Given the description of an element on the screen output the (x, y) to click on. 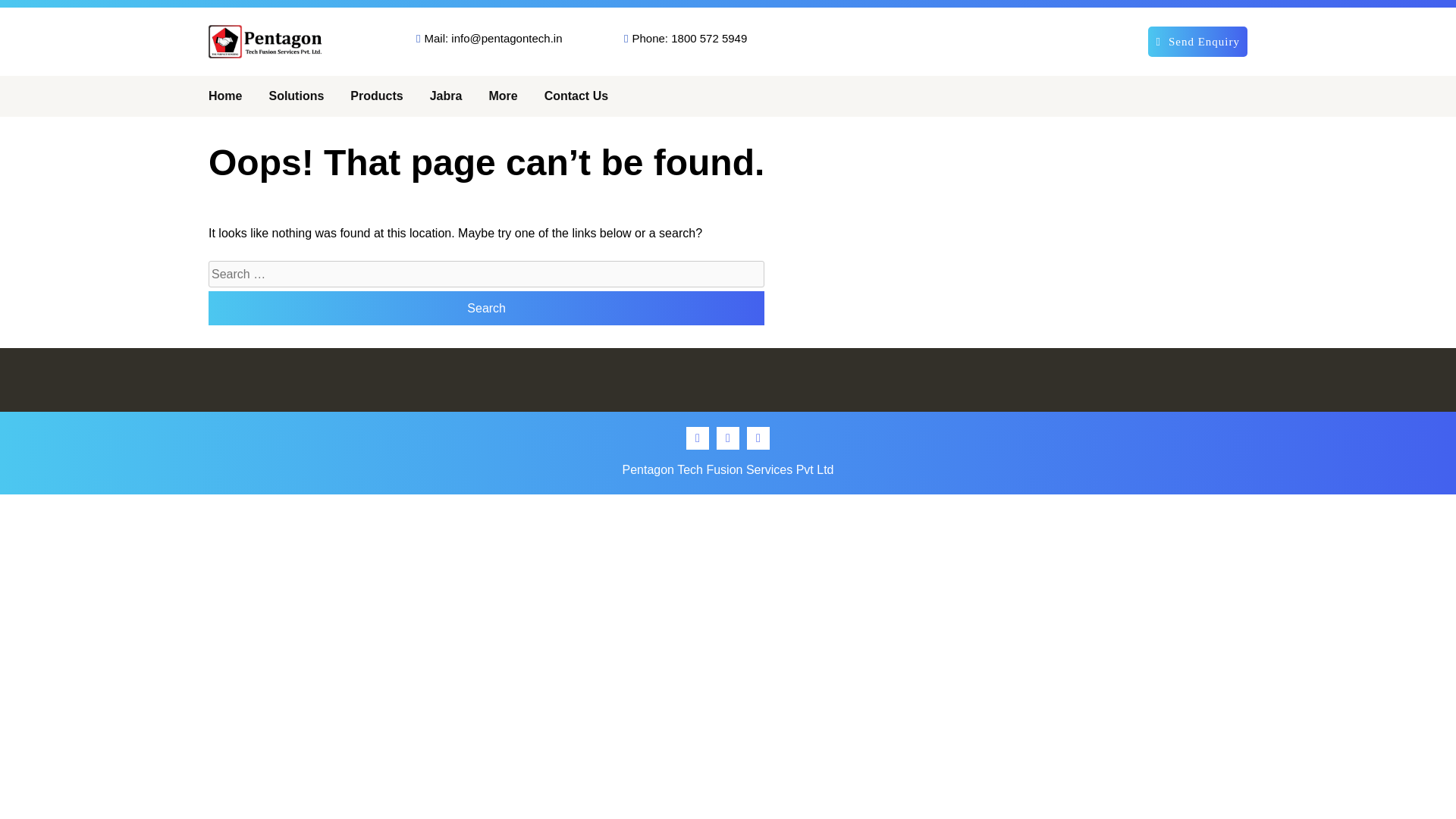
Send Enquiry (1197, 41)
Search (486, 308)
Products (376, 96)
Search (486, 308)
Solutions (295, 96)
